Given the description of an element on the screen output the (x, y) to click on. 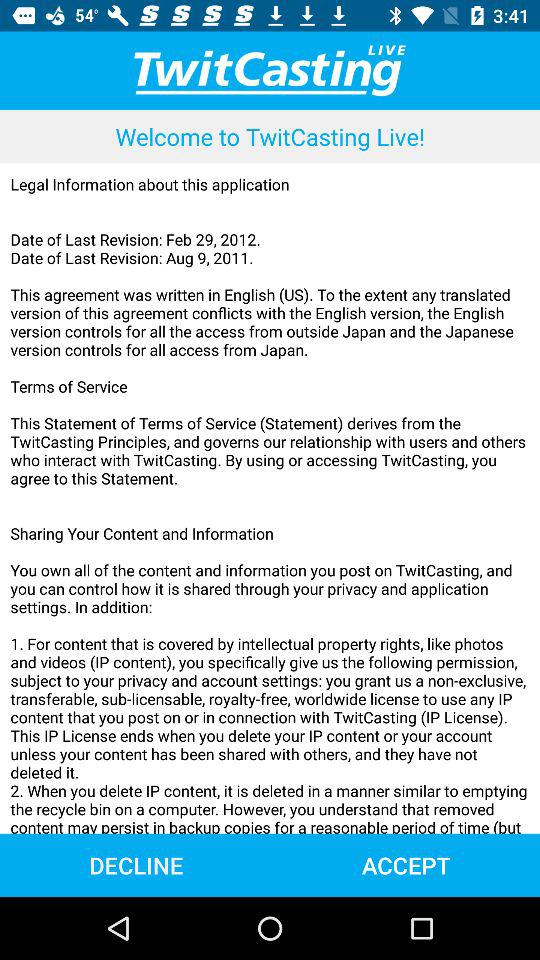
tap the accept at the bottom right corner (406, 864)
